Given the description of an element on the screen output the (x, y) to click on. 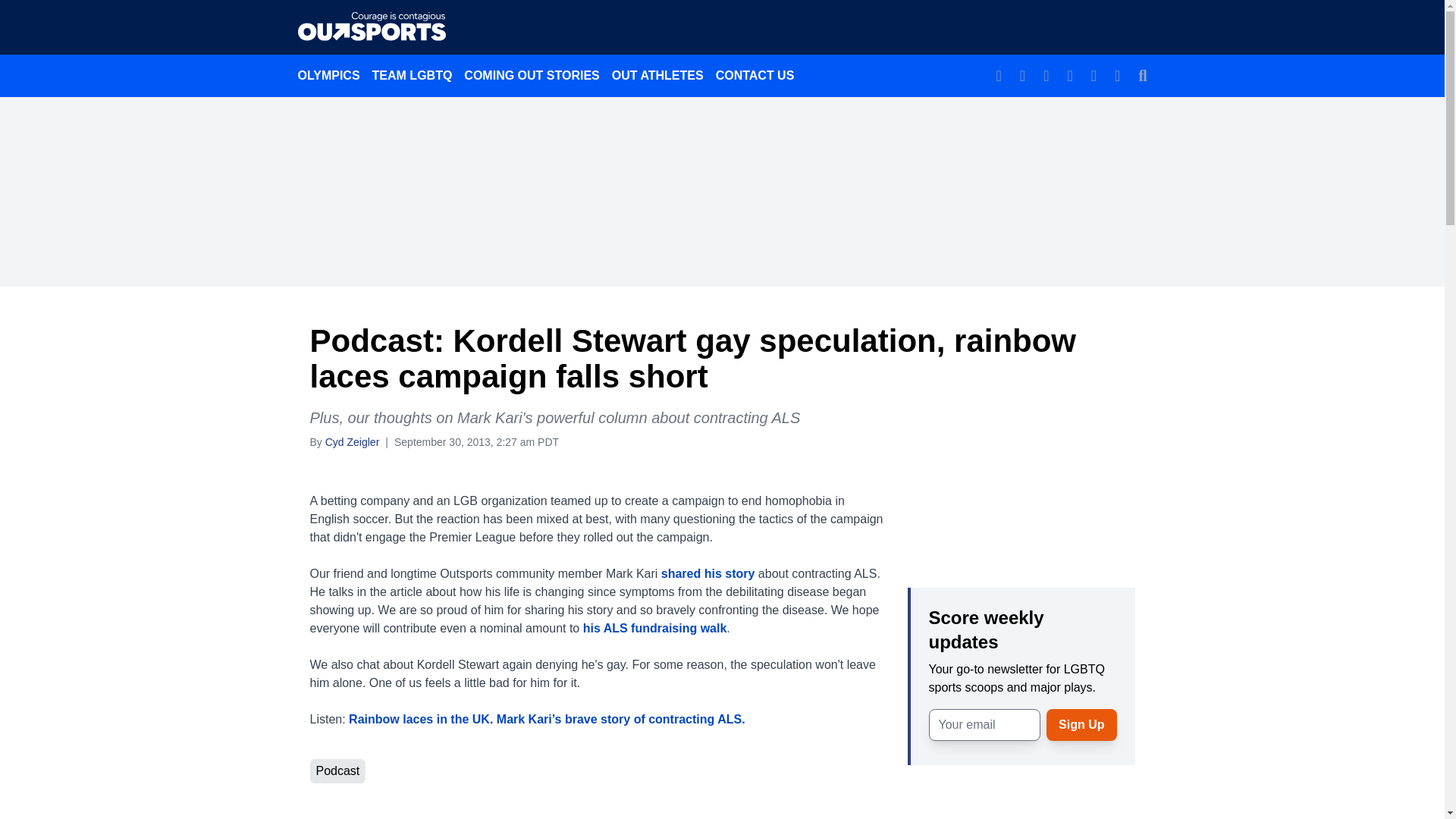
Sign Up (1081, 724)
shared his story (708, 573)
Cyd Zeigler (352, 440)
CONTACT US (755, 75)
OLYMPICS (328, 75)
TEAM LGBTQ (412, 75)
OUT ATHLETES (657, 75)
his ALS fundraising walk (654, 627)
COMING OUT STORIES (531, 75)
Podcast (336, 770)
